Given the description of an element on the screen output the (x, y) to click on. 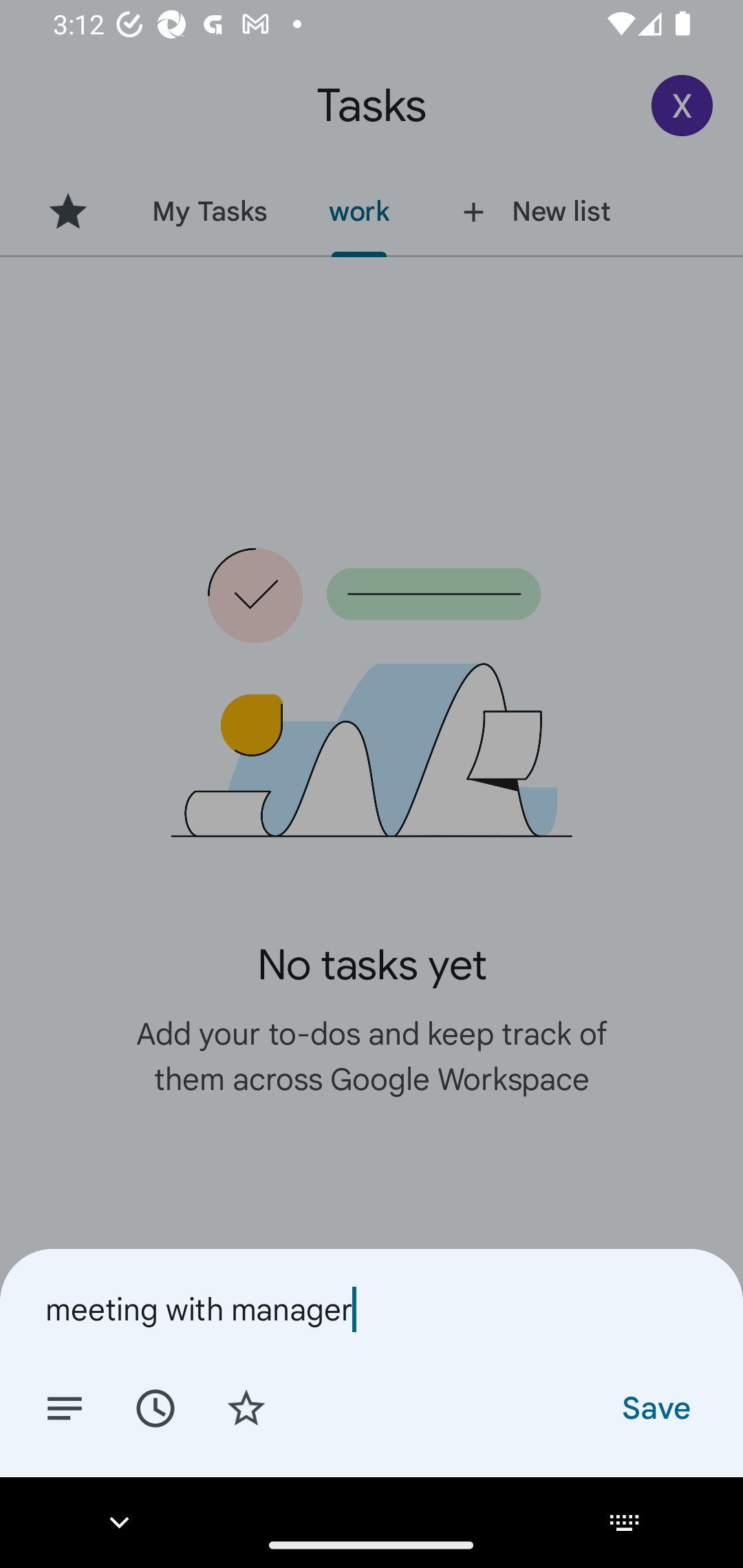
meeting with manager (371, 1308)
Save (655, 1407)
Add details (64, 1407)
Set date/time (154, 1407)
Add star (245, 1407)
